Given the description of an element on the screen output the (x, y) to click on. 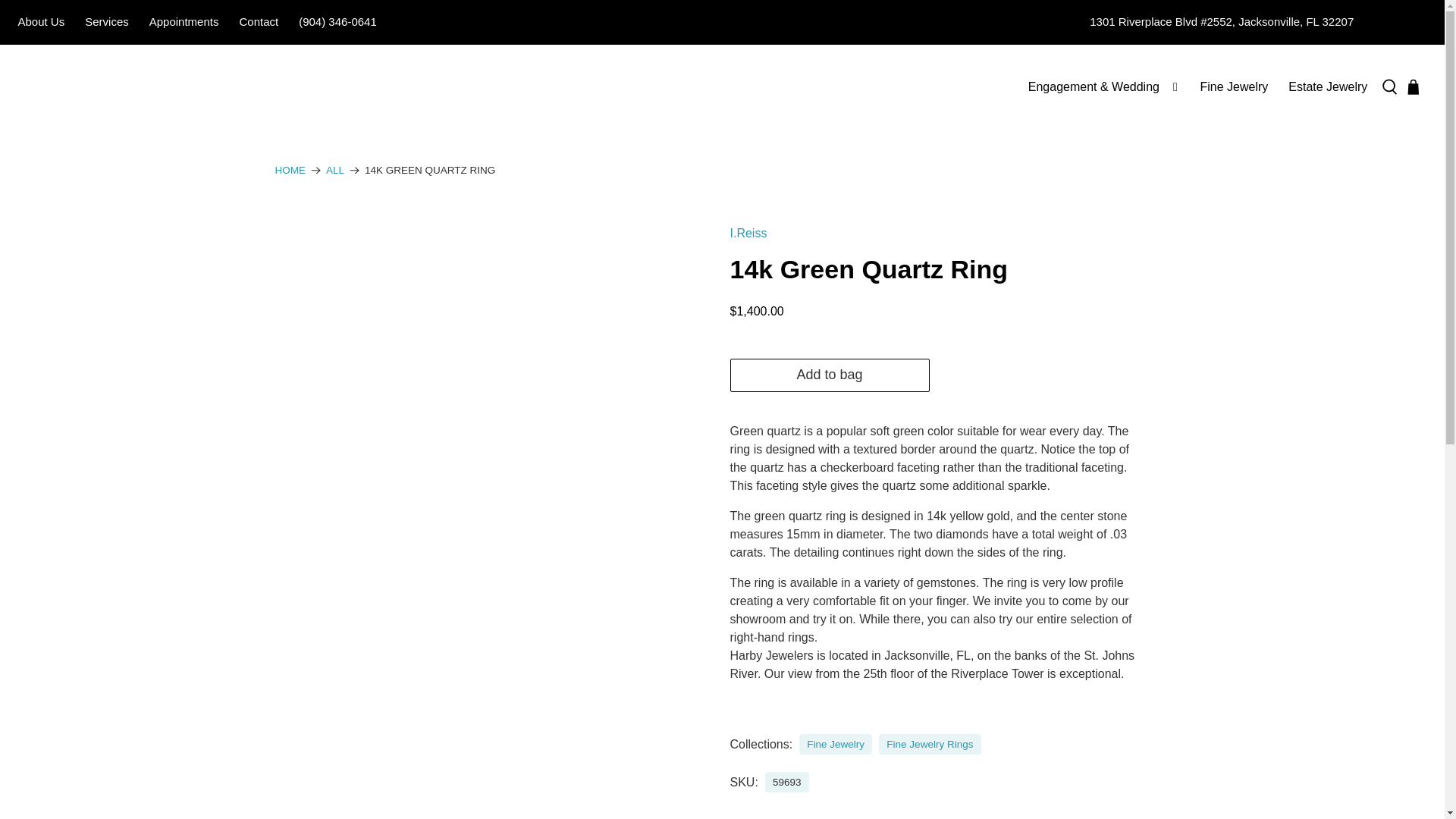
Services (107, 22)
About Us (41, 22)
I.Reiss (748, 232)
Fine Jewelry (835, 744)
Estate Jewelry (1327, 86)
Harby Jewelers of Jacksonville (104, 86)
Harby Jewelers of Jacksonville (290, 170)
Contact (258, 22)
Fine Jewelry (1233, 86)
Appointments (183, 22)
Fine Jewelry Rings (929, 744)
